Given the description of an element on the screen output the (x, y) to click on. 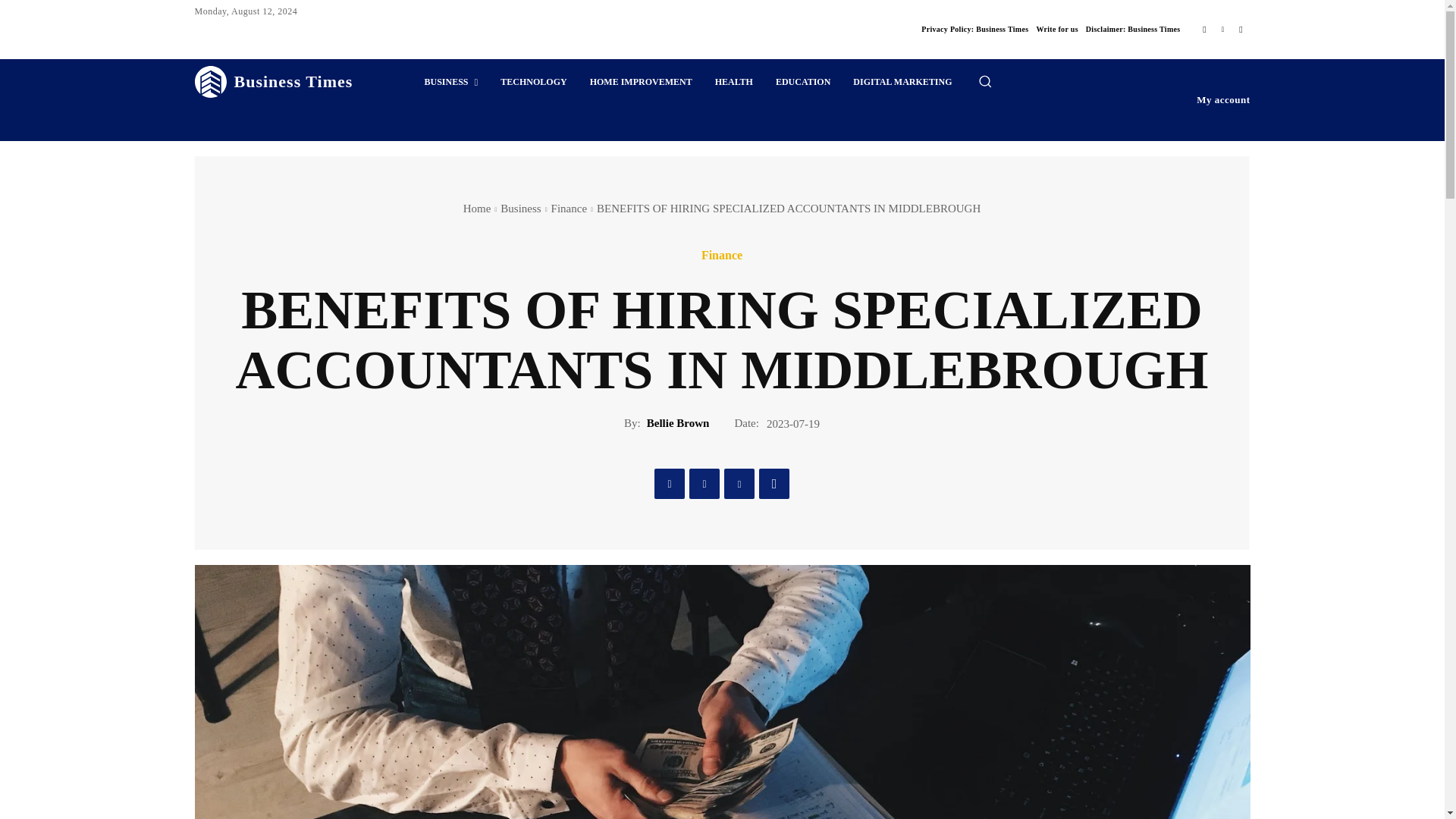
EDUCATION (802, 81)
DIGITAL MARKETING (901, 81)
Home (477, 208)
RSS (1240, 29)
Business (520, 208)
Twitter (703, 483)
WhatsApp (773, 483)
HEALTH (733, 81)
Business Times (272, 81)
HOME IMPROVEMENT (640, 81)
